Given the description of an element on the screen output the (x, y) to click on. 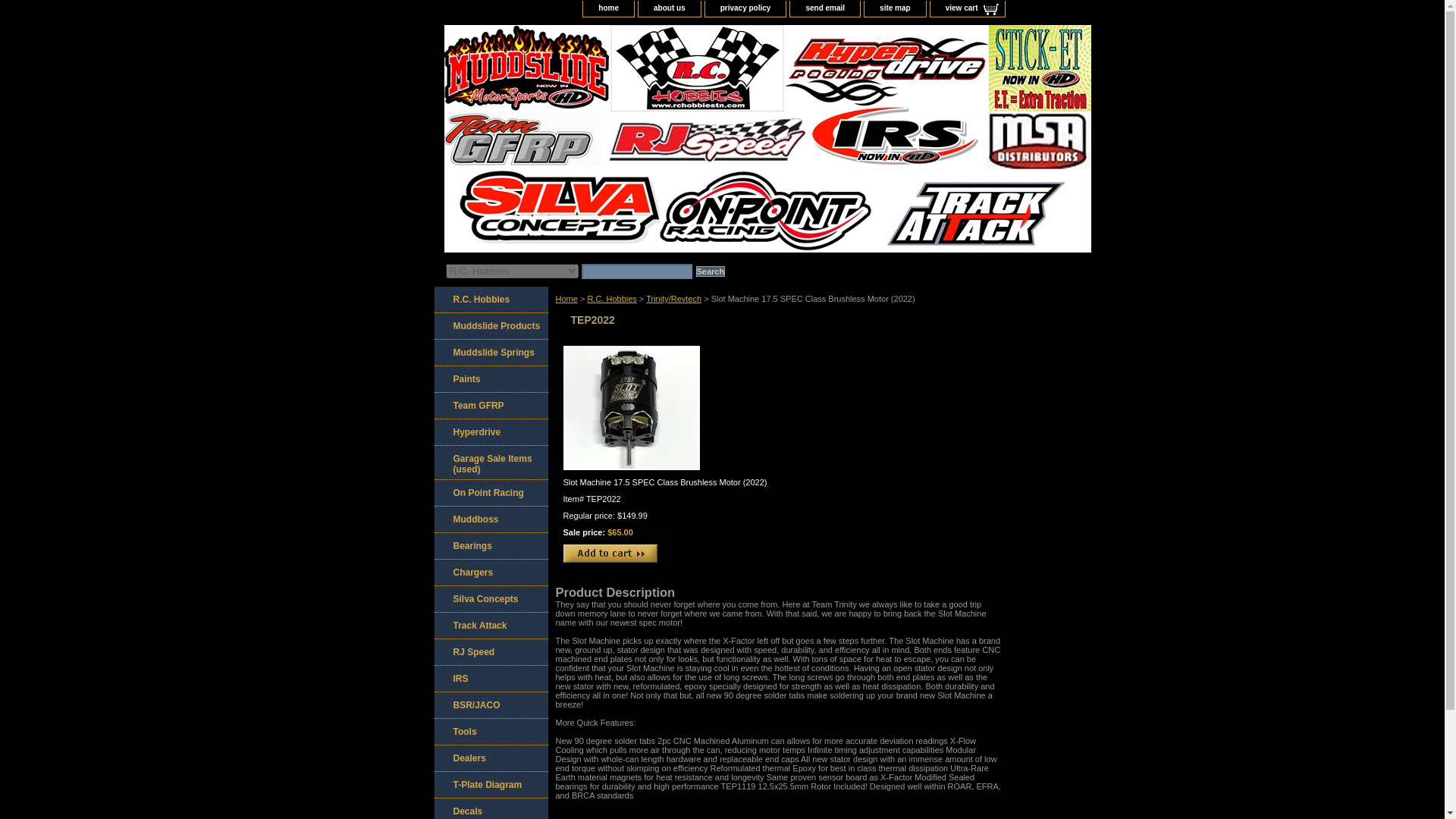
R.C. Hobbies (611, 298)
Search (710, 271)
Hyperdrive (490, 432)
Paints (490, 379)
Muddslide Springs (490, 352)
Team GFRP (490, 406)
IRS (490, 678)
On Point Racing (490, 492)
Chargers (490, 572)
R.C. Hobbies (490, 299)
